Given the description of an element on the screen output the (x, y) to click on. 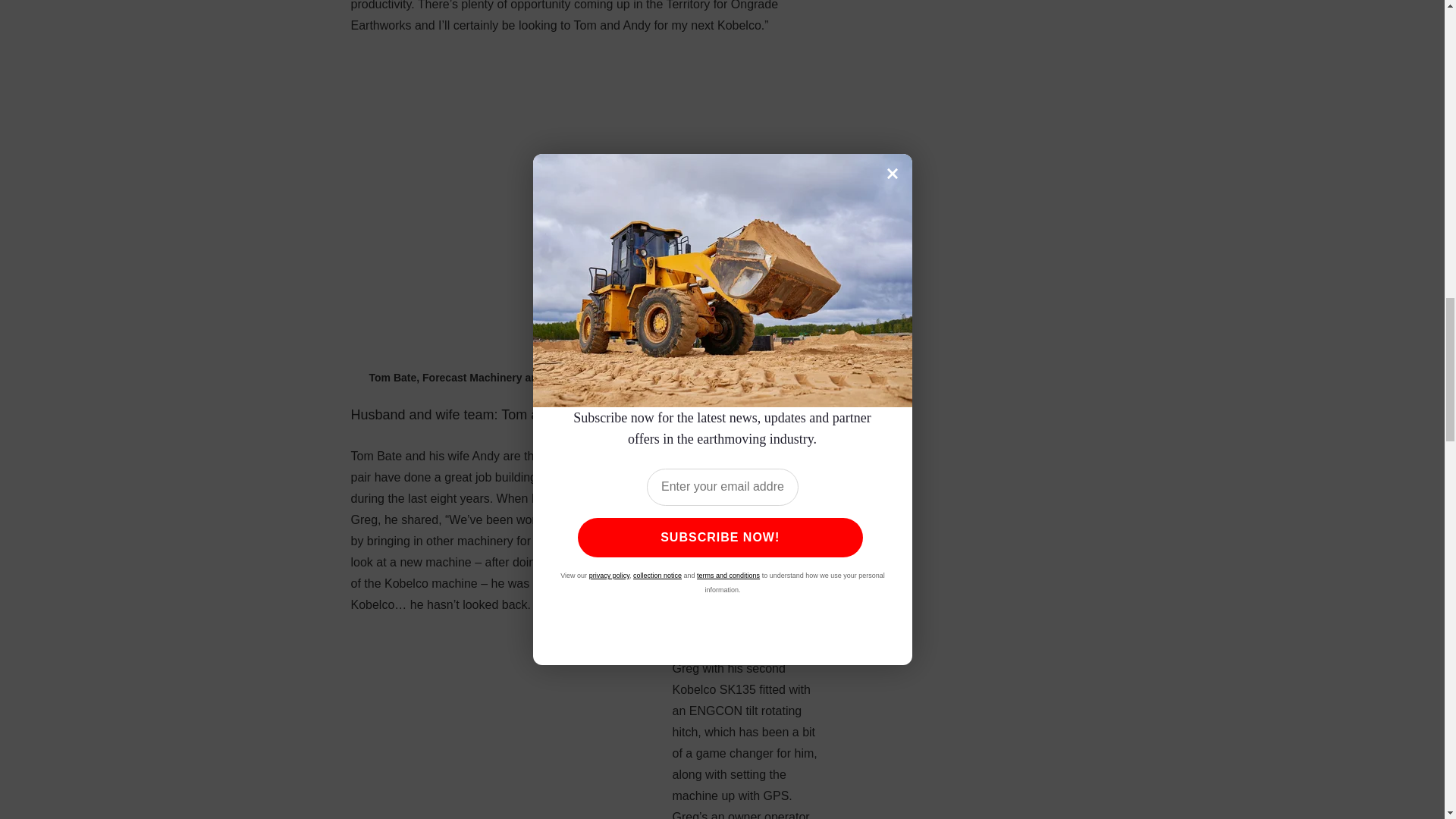
Page 59 (585, 728)
